Given the description of an element on the screen output the (x, y) to click on. 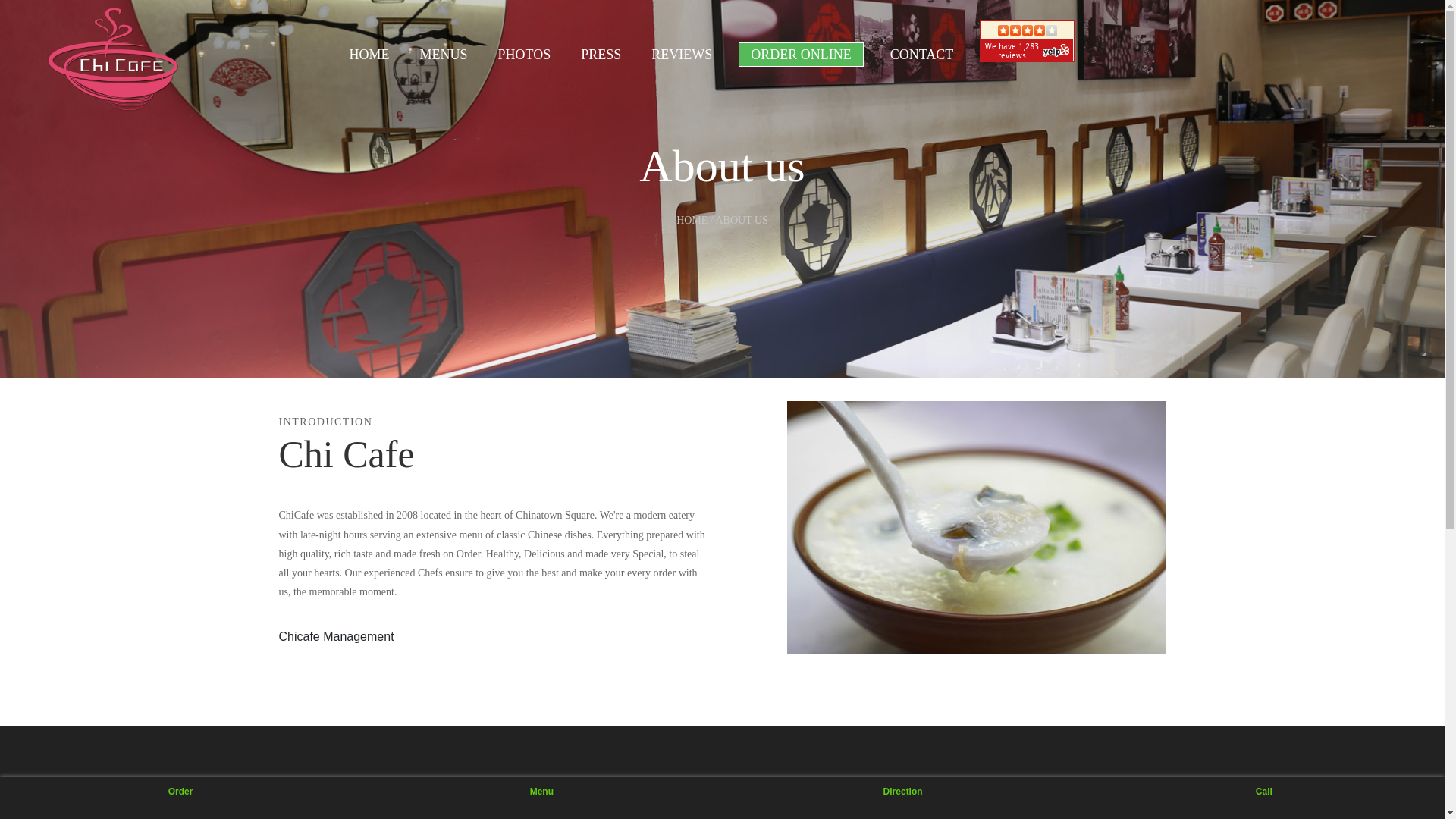
Get Directions (902, 797)
Home (113, 58)
REVIEWS (681, 54)
Order (180, 797)
ORDER ONLINE (800, 54)
PRESS (600, 54)
PHOTOS (524, 54)
MENUS (442, 54)
HOME (369, 54)
Menu (541, 797)
CONTACT (922, 54)
